Given the description of an element on the screen output the (x, y) to click on. 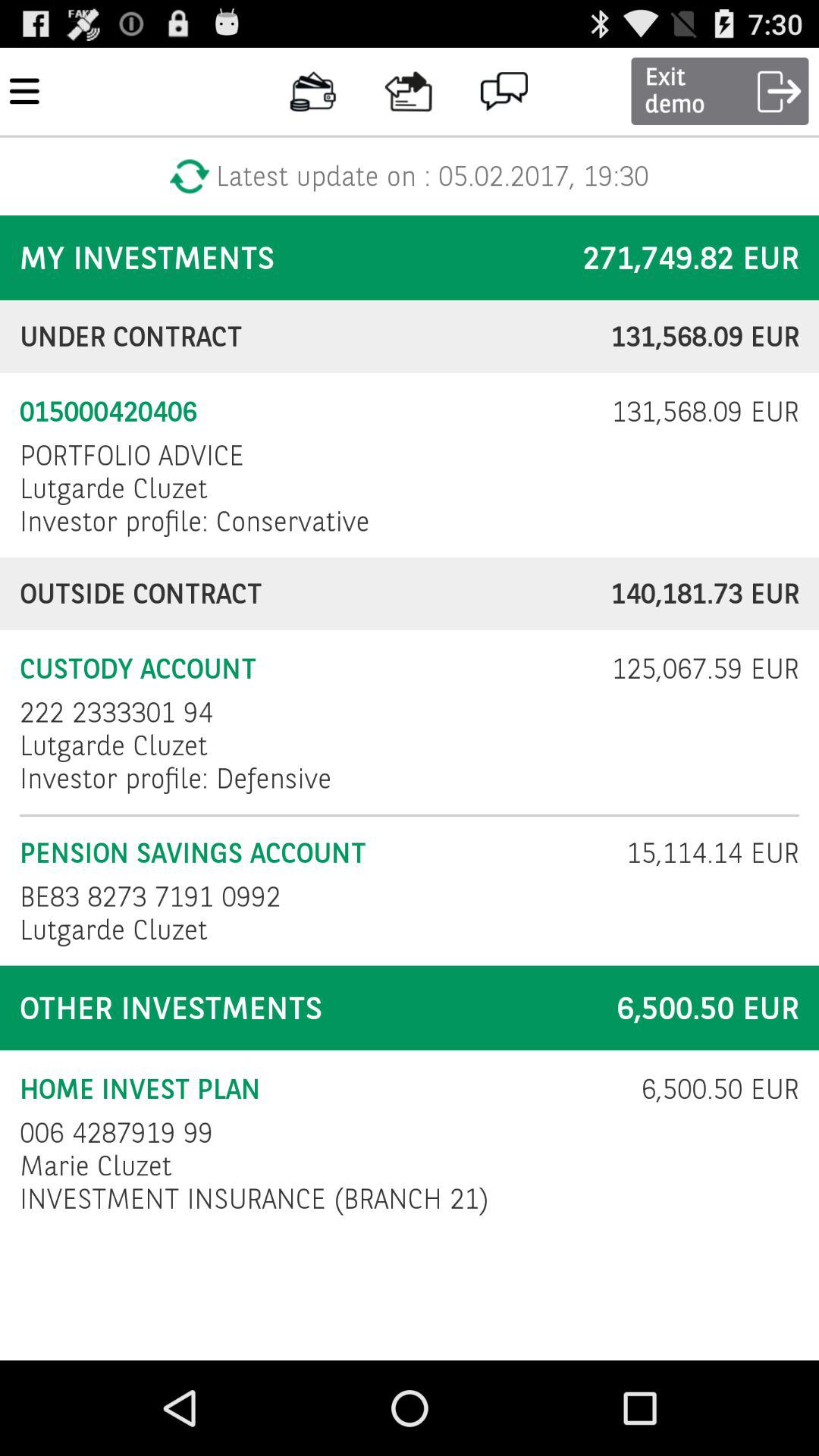
tap icon above lutgarde cluzet item (131, 455)
